Given the description of an element on the screen output the (x, y) to click on. 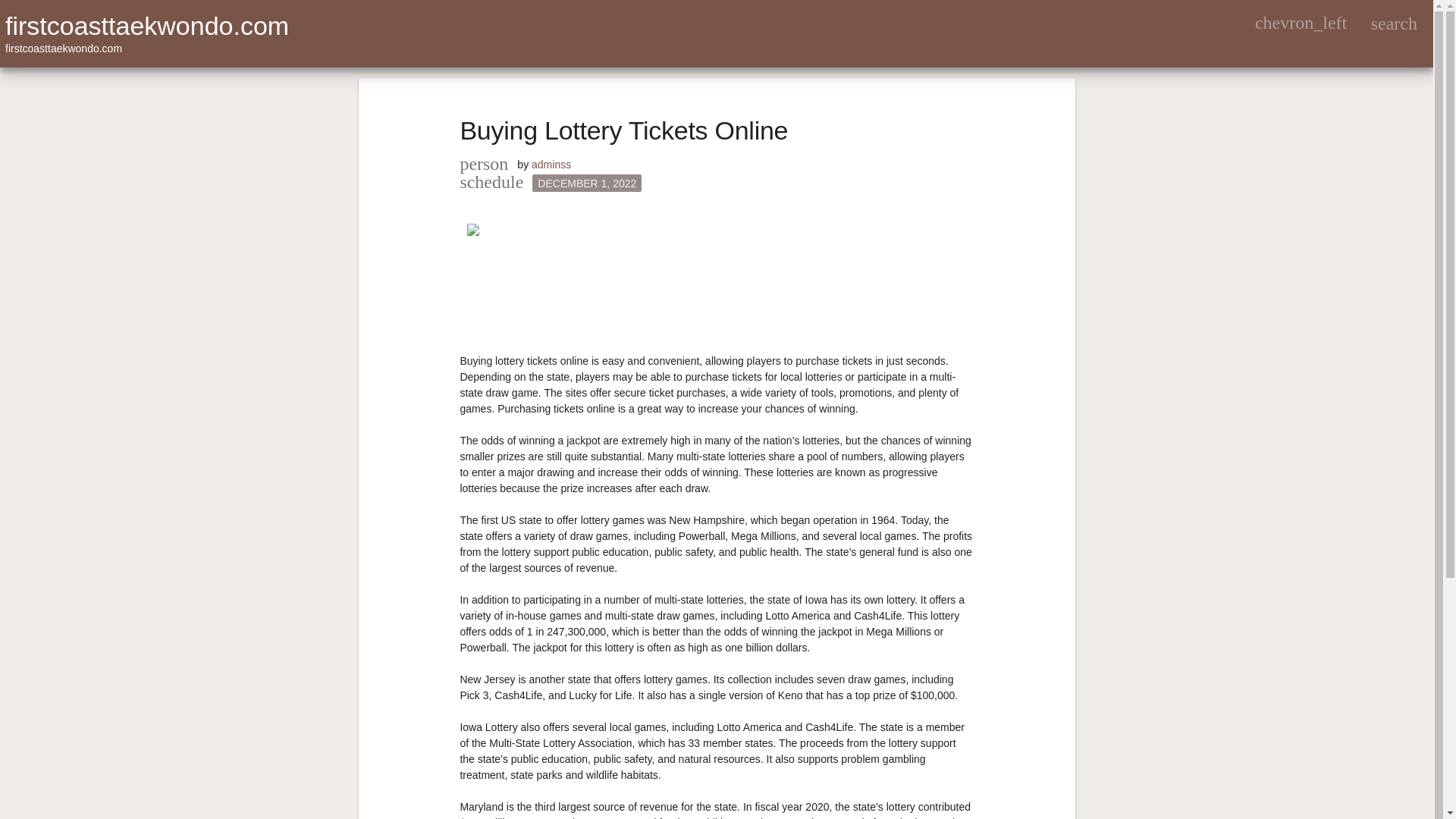
adminss (550, 164)
firstcoasttaekwondo.com (146, 25)
DECEMBER 1, 2022 (587, 182)
search (1393, 22)
